Given the description of an element on the screen output the (x, y) to click on. 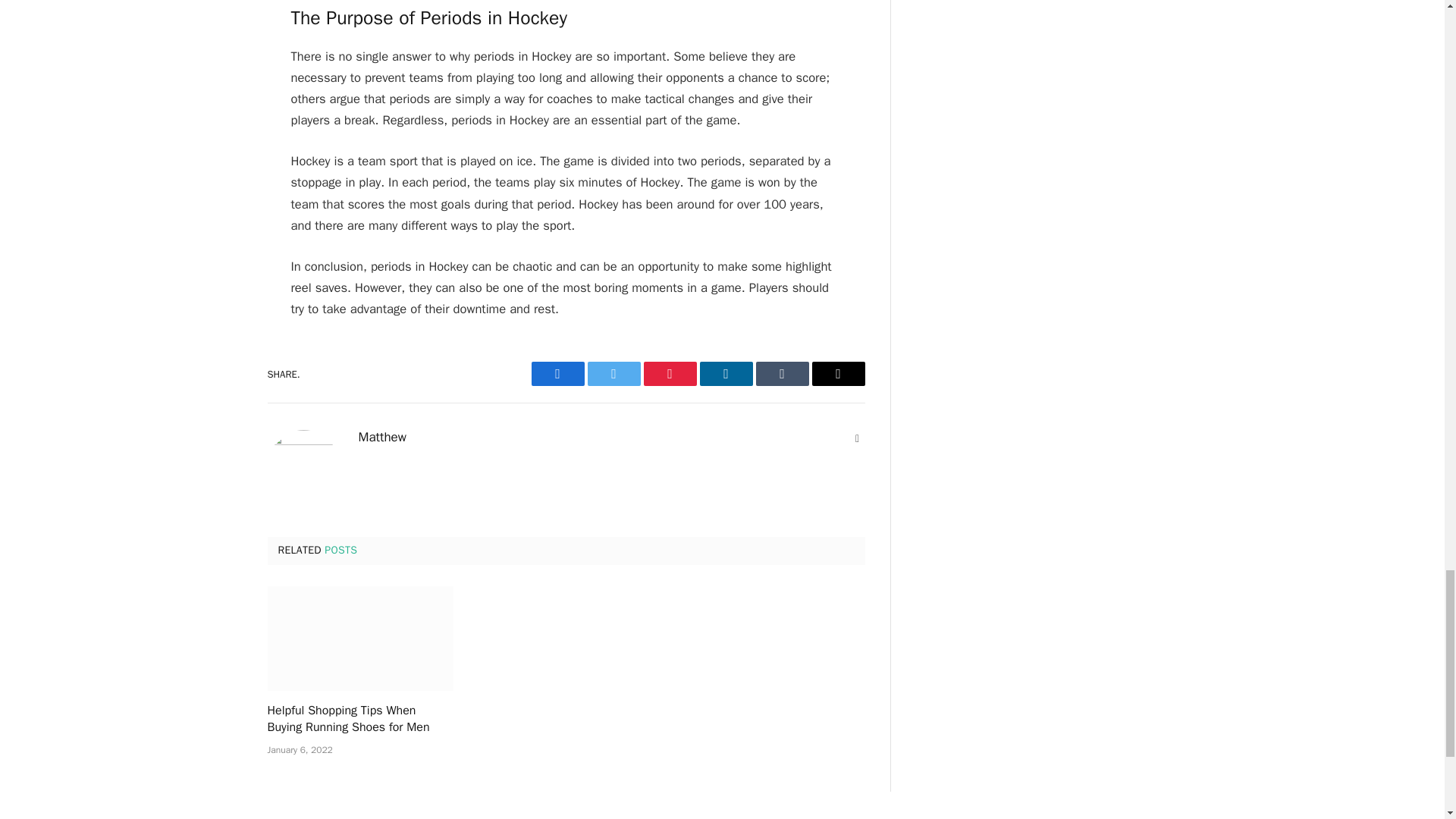
Pinterest (669, 373)
Twitter (613, 373)
Facebook (557, 373)
